Given the description of an element on the screen output the (x, y) to click on. 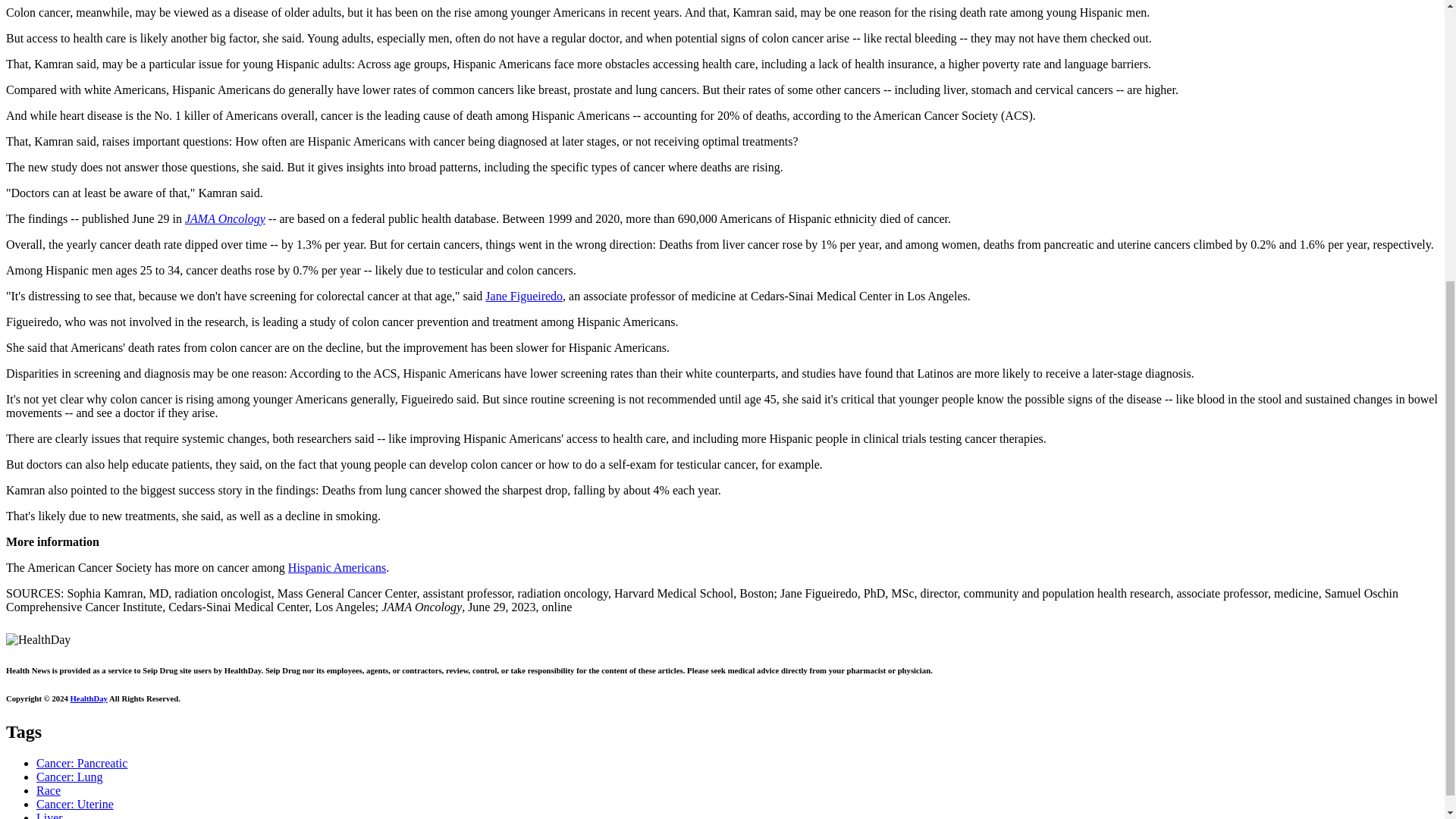
JAMA Oncology (224, 218)
Cancer: Lung (69, 776)
Cancer: Pancreatic (82, 762)
Race (48, 789)
Jane Figueiredo (523, 295)
HealthDay (88, 697)
Hispanic Americans (336, 567)
Cancer: Uterine (74, 803)
